Given the description of an element on the screen output the (x, y) to click on. 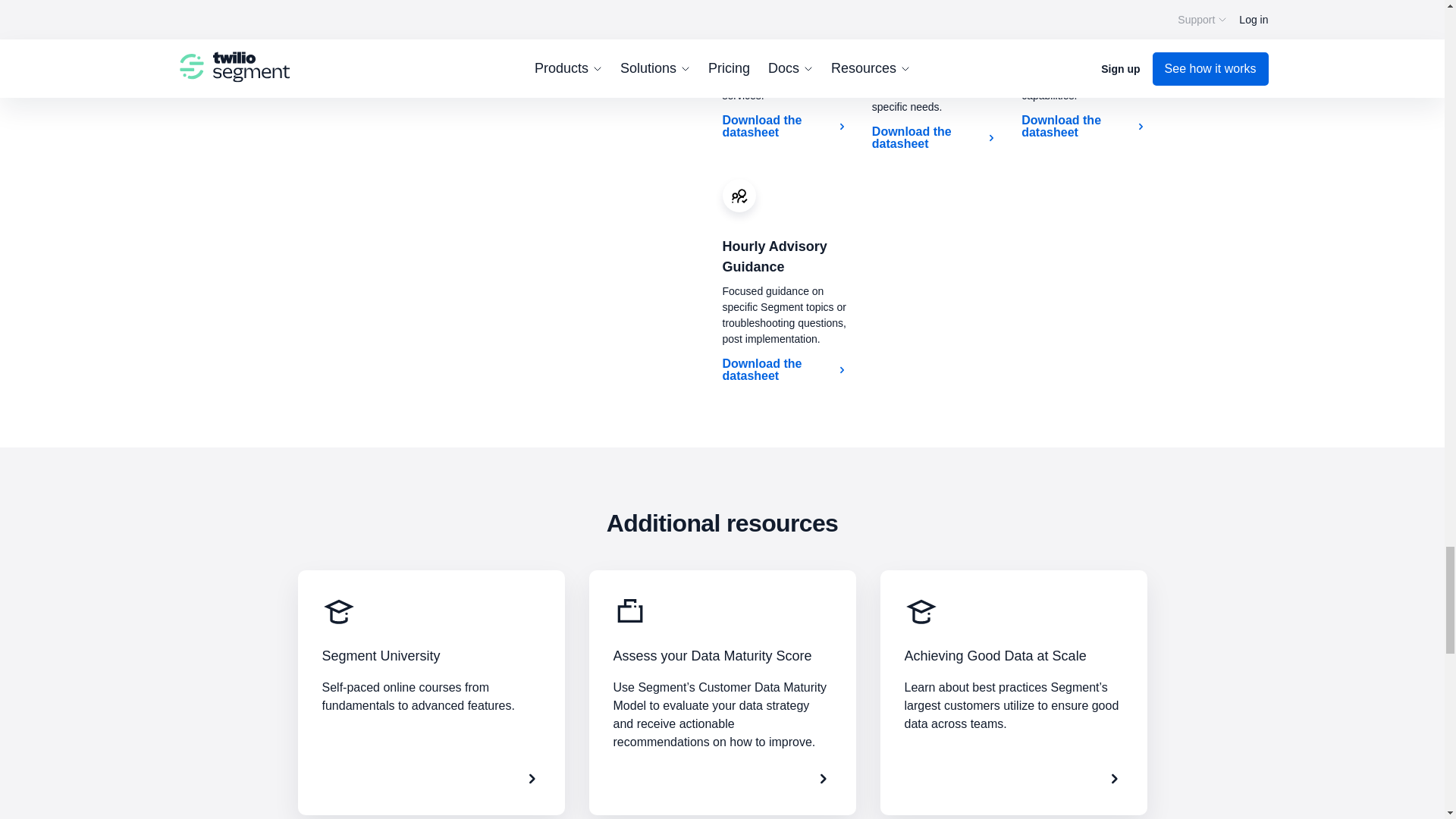
Download the datasheet (784, 369)
Download the datasheet (934, 137)
Download the datasheet (784, 126)
Download the datasheet (1084, 126)
